Given the description of an element on the screen output the (x, y) to click on. 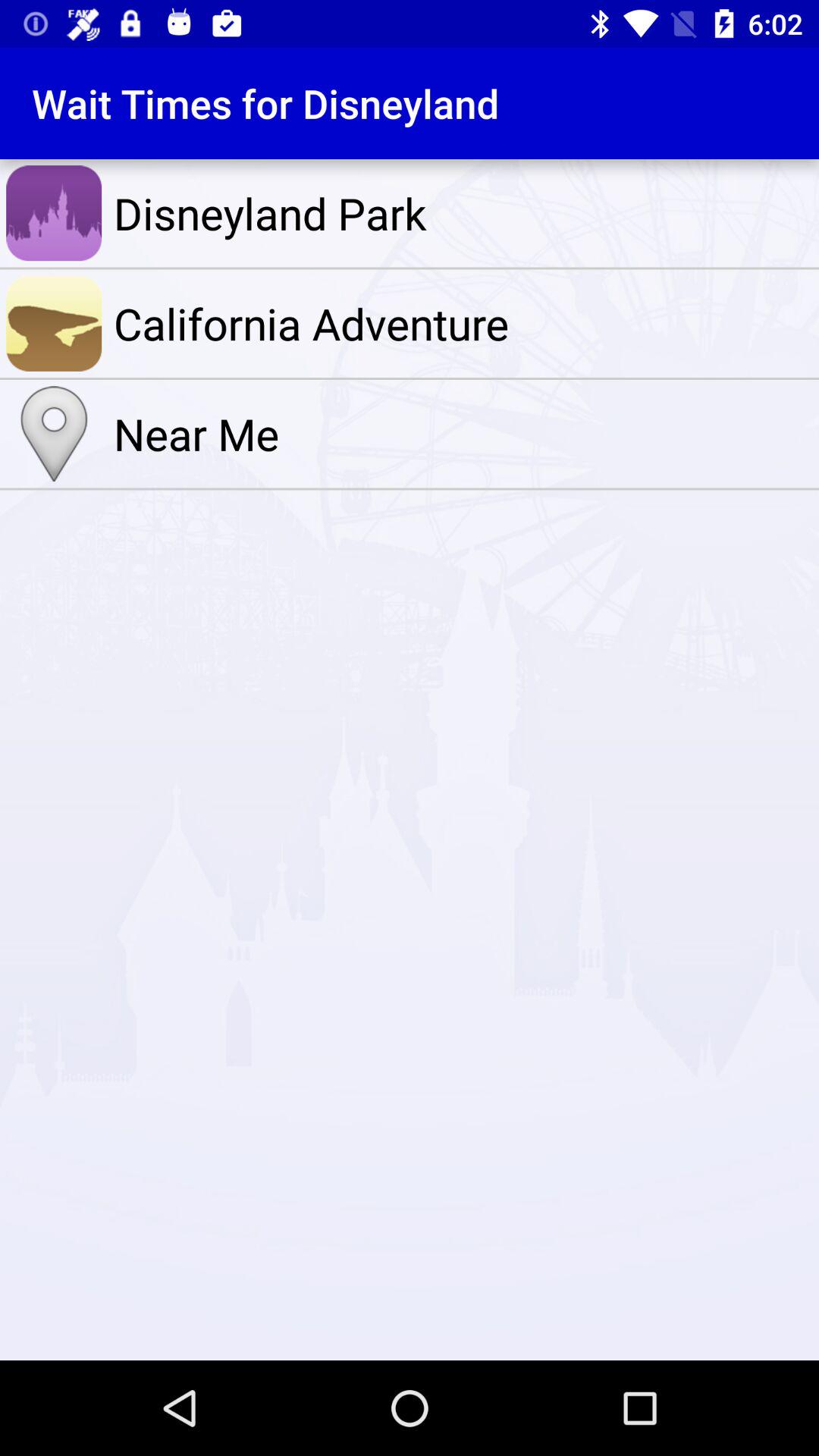
scroll to the disneyland park icon (462, 213)
